Given the description of an element on the screen output the (x, y) to click on. 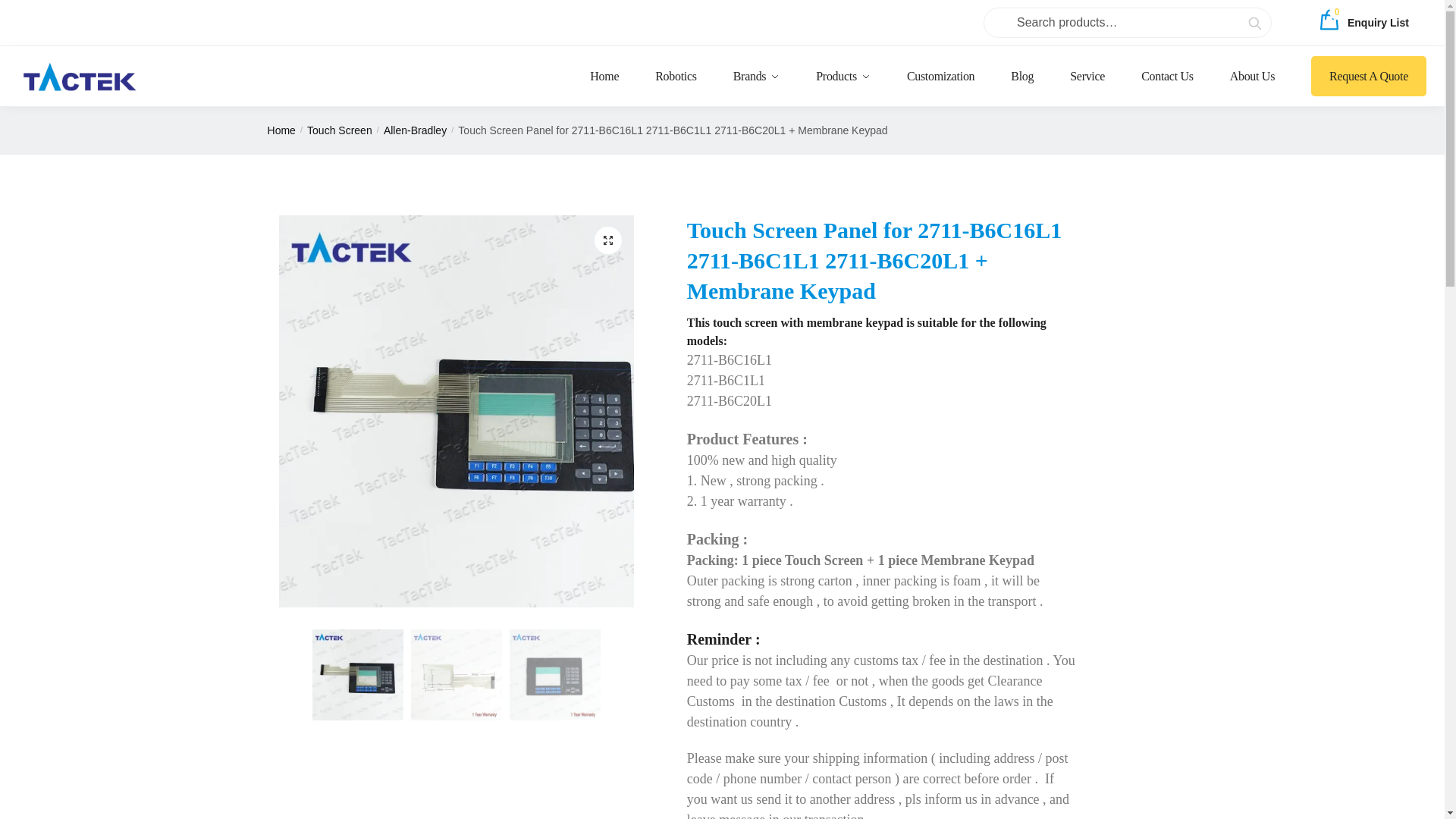
Brands (756, 76)
Products (1364, 22)
Search (842, 76)
Submit (1239, 22)
